Given the description of an element on the screen output the (x, y) to click on. 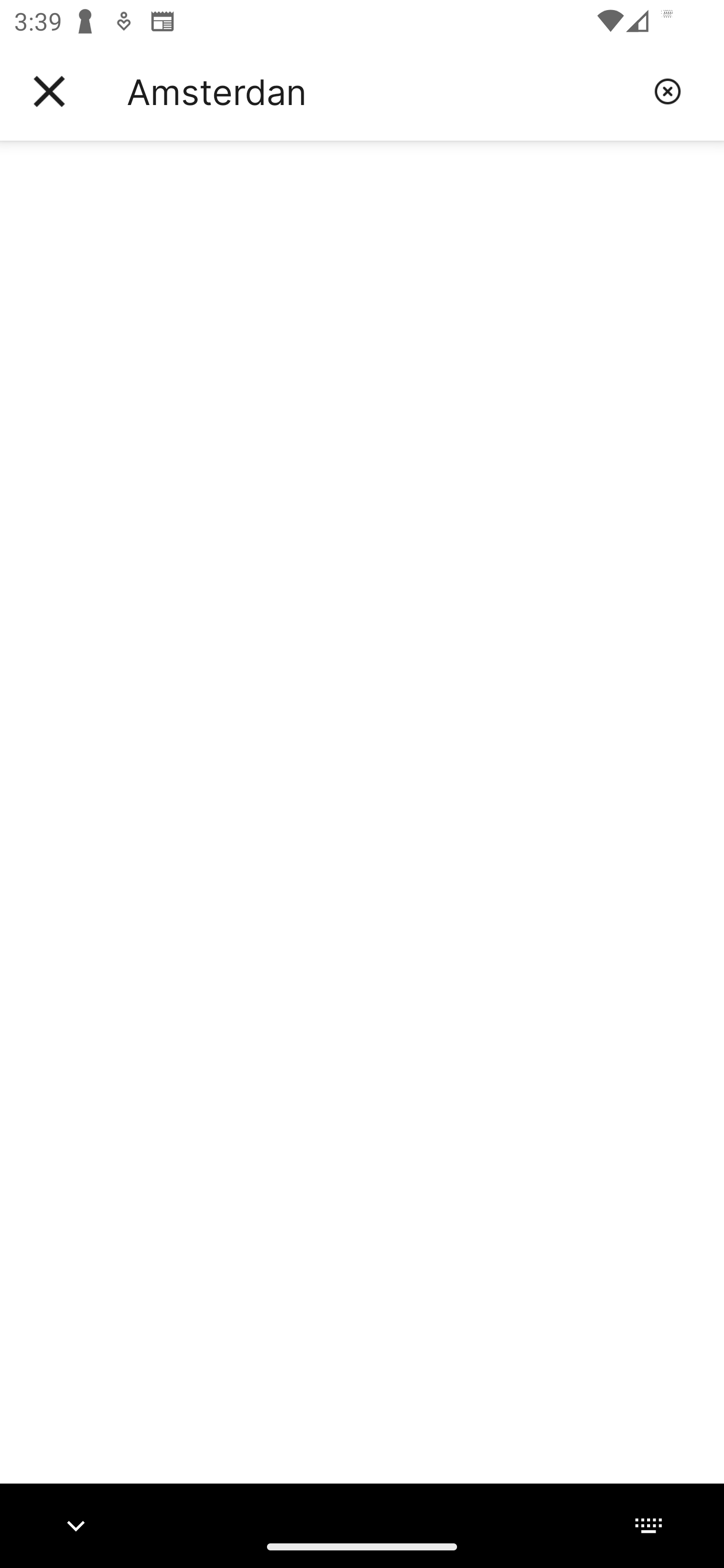
Amsterdan (382, 91)
